Given the description of an element on the screen output the (x, y) to click on. 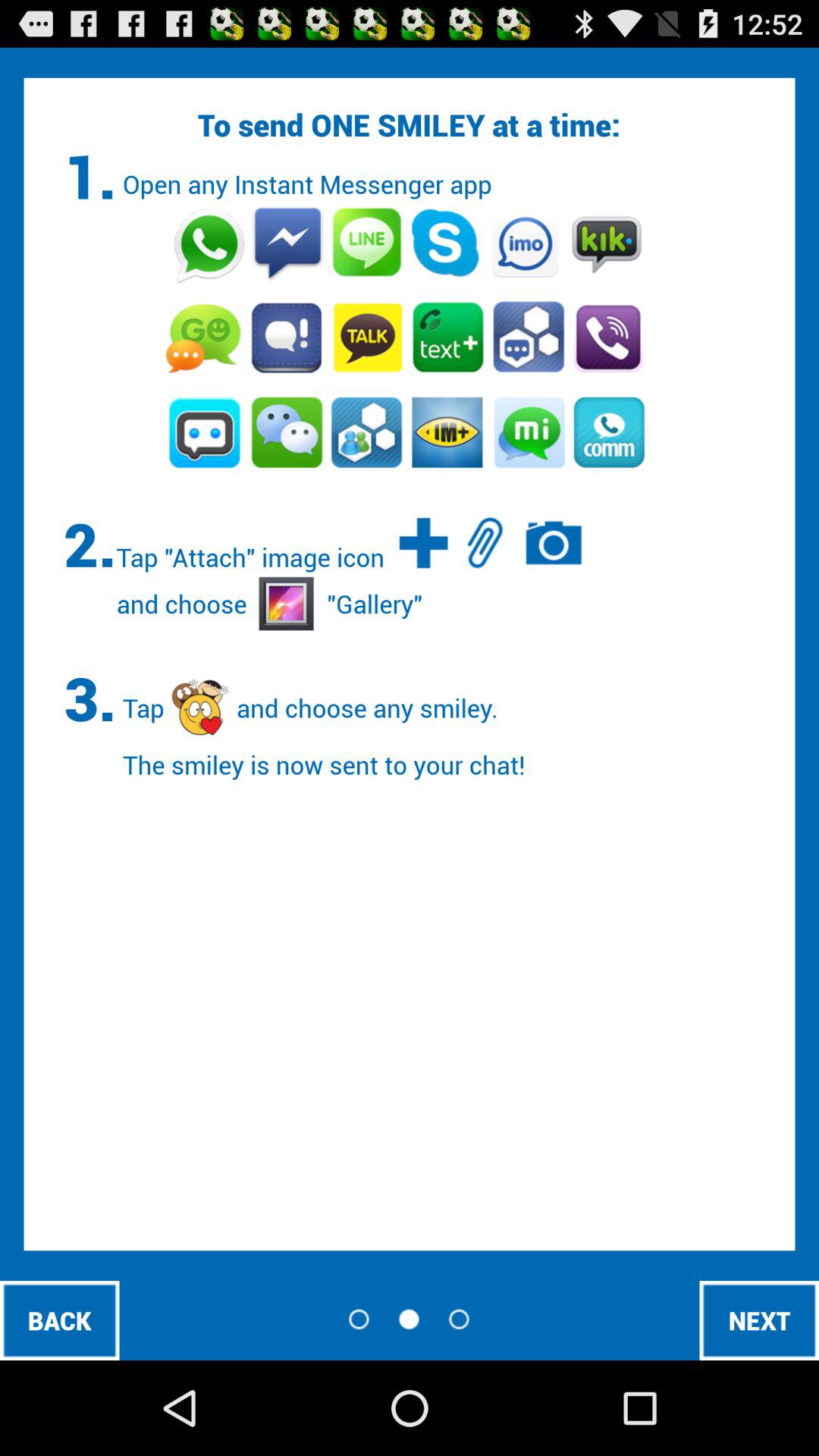
select the item below the smiley is icon (59, 1320)
